Given the description of an element on the screen output the (x, y) to click on. 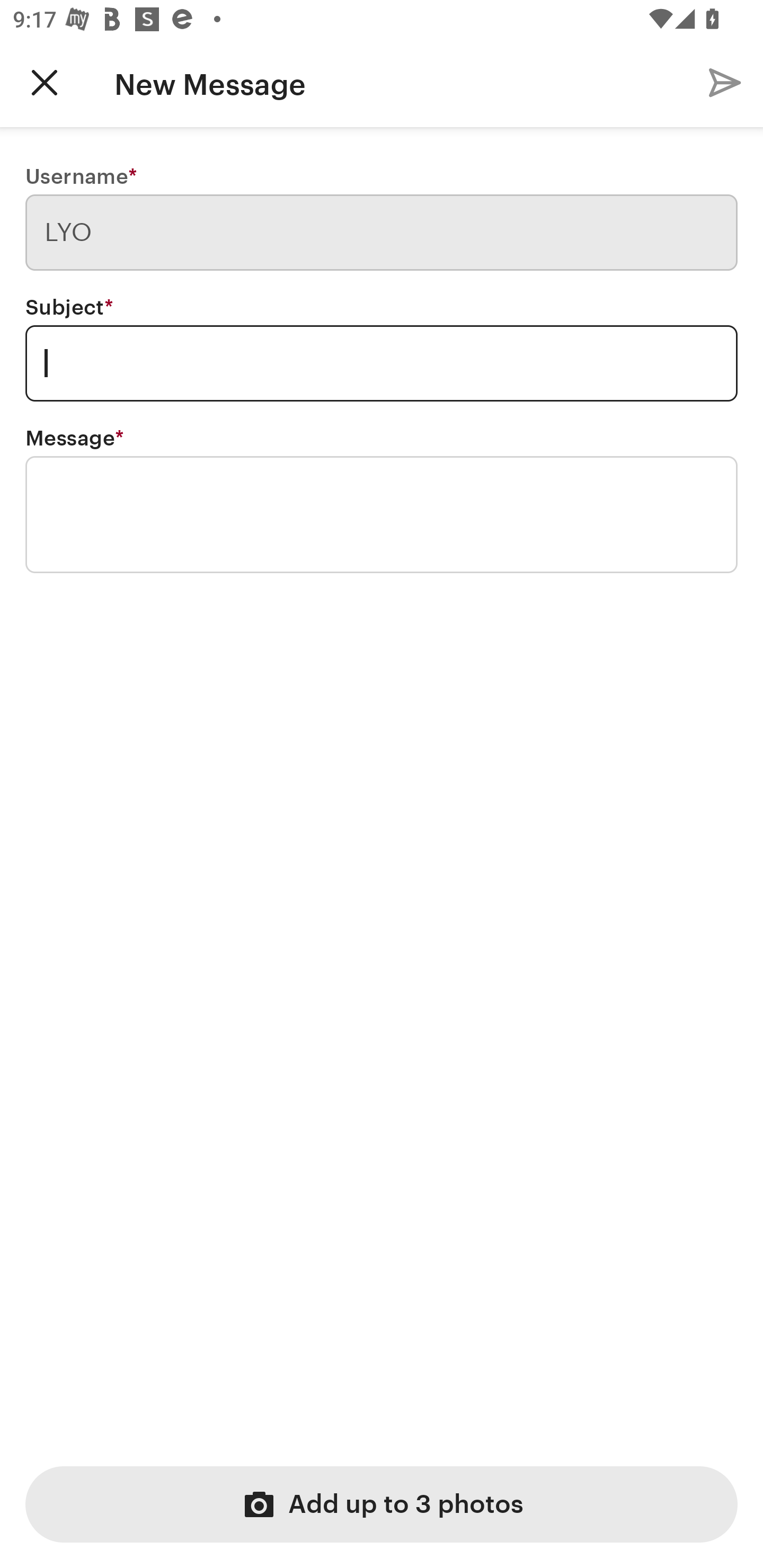
Close (44, 82)
Send (724, 81)
LYO (381, 232)
Add up to 3 photos (381, 1504)
